Given the description of an element on the screen output the (x, y) to click on. 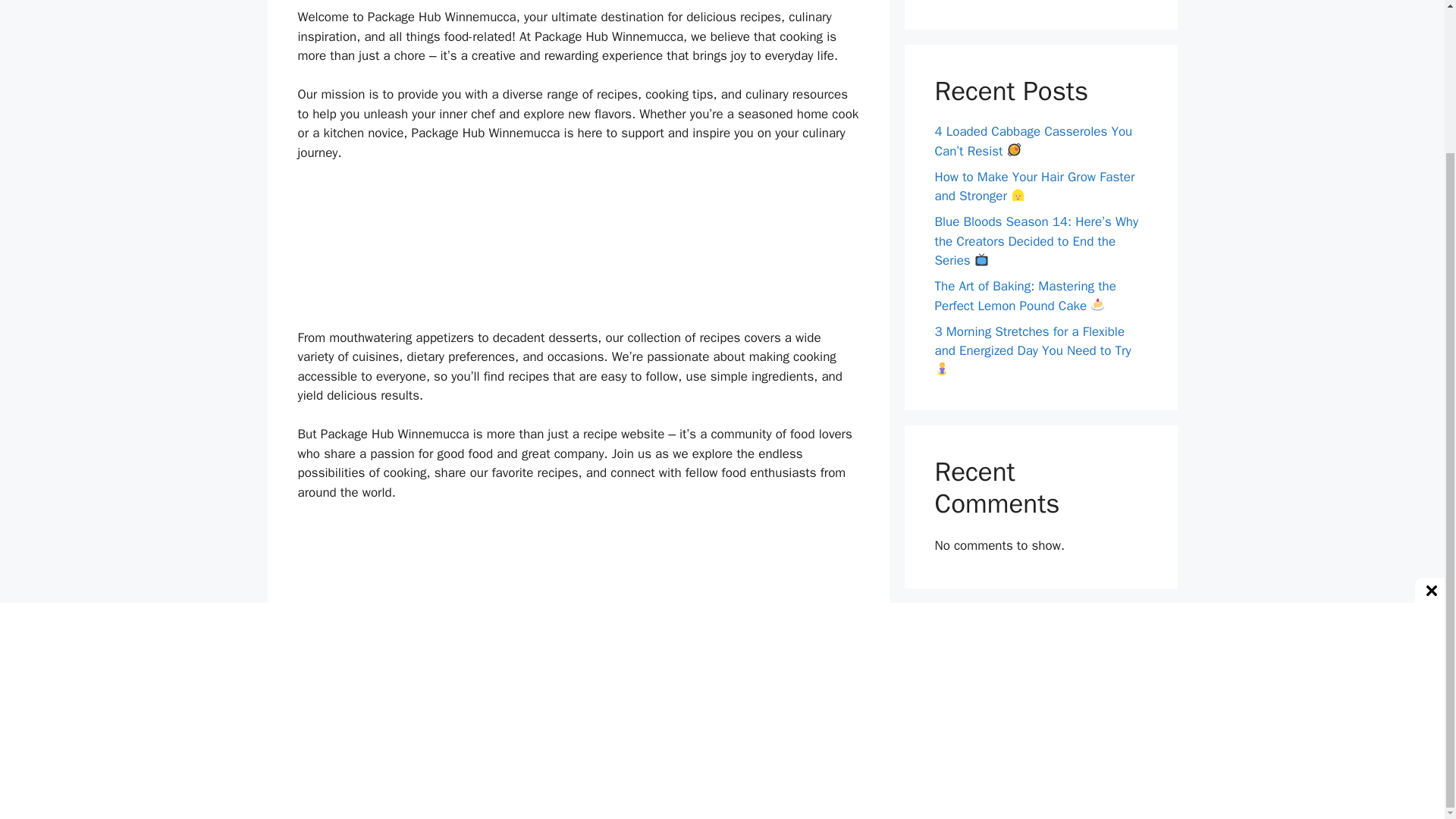
GeneratePress (839, 794)
How to Make Your Hair Grow Faster and Stronger (1034, 185)
The Art of Baking: Mastering the Perfect Lemon Pound Cake (1024, 295)
Advertisement (578, 251)
Advertisement (578, 591)
